Given the description of an element on the screen output the (x, y) to click on. 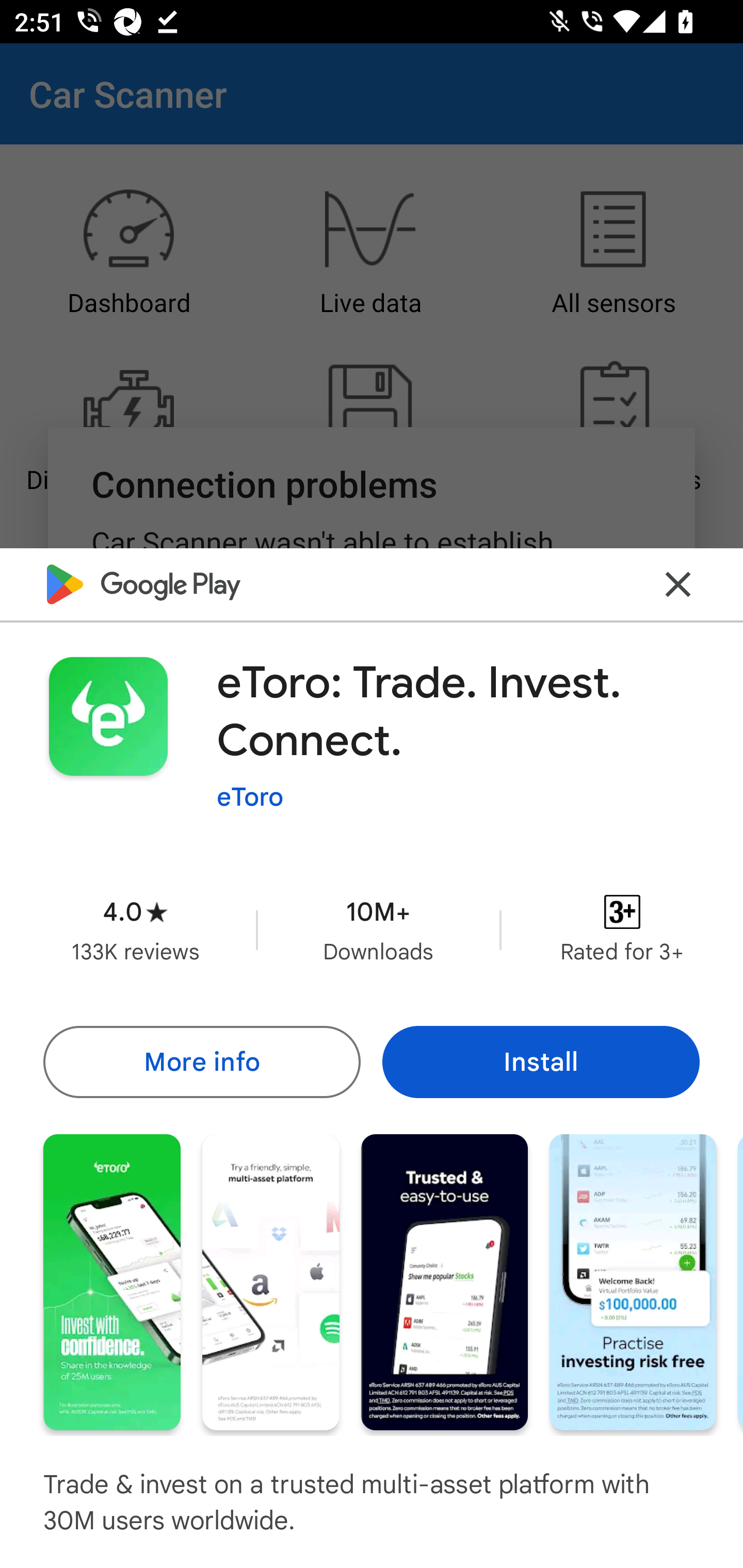
Close (677, 584)
eToro (249, 796)
More info (201, 1061)
Install (540, 1061)
Screenshot "1" of "7" (111, 1281)
Screenshot "2" of "7" (270, 1281)
Screenshot "3" of "7" (444, 1281)
Screenshot "4" of "7" (632, 1281)
